Given the description of an element on the screen output the (x, y) to click on. 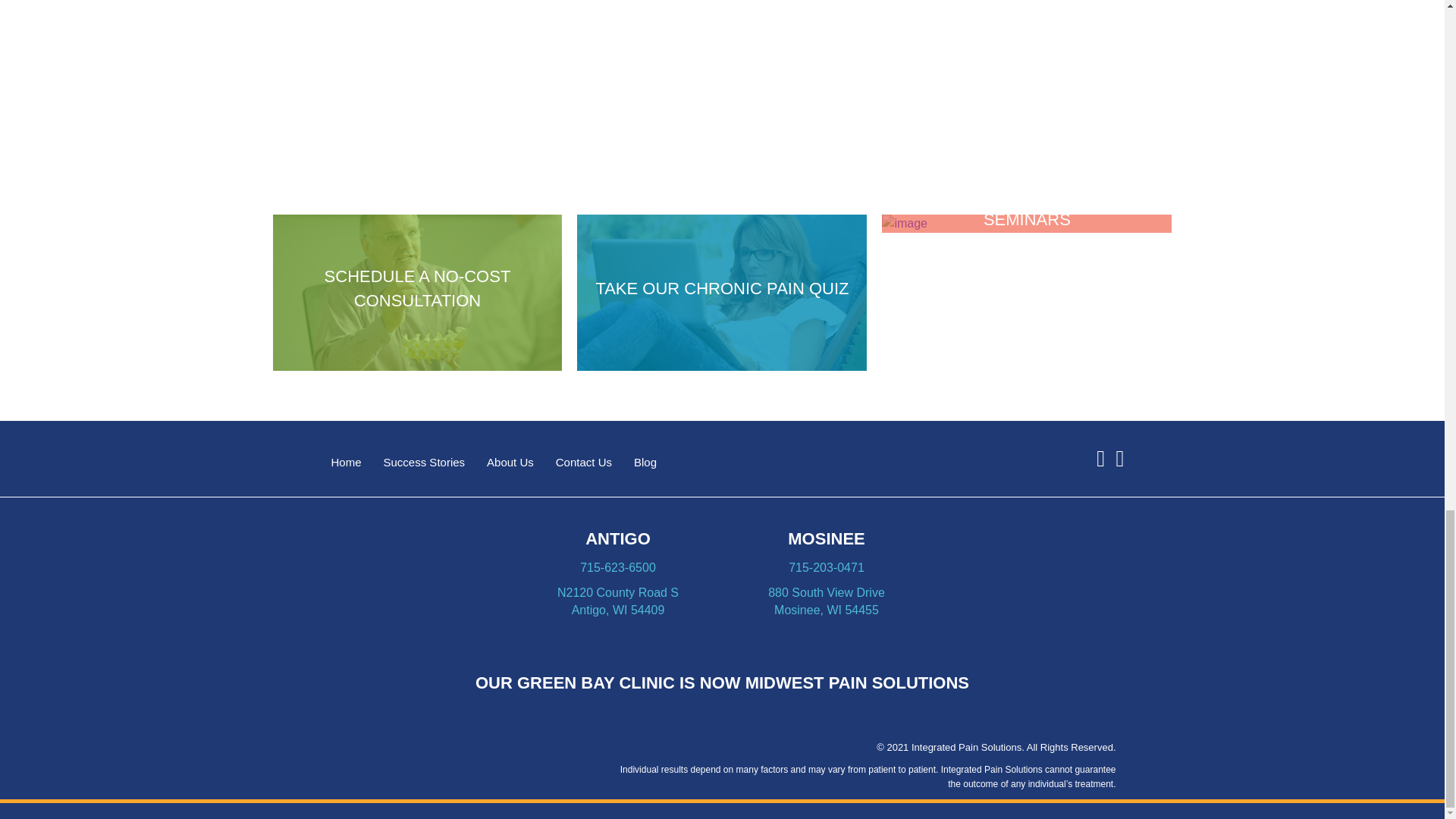
Antigo (617, 538)
Our Green Bay Clinic is now Midwest Pain Solutions (722, 682)
Mosinee (825, 538)
